Given the description of an element on the screen output the (x, y) to click on. 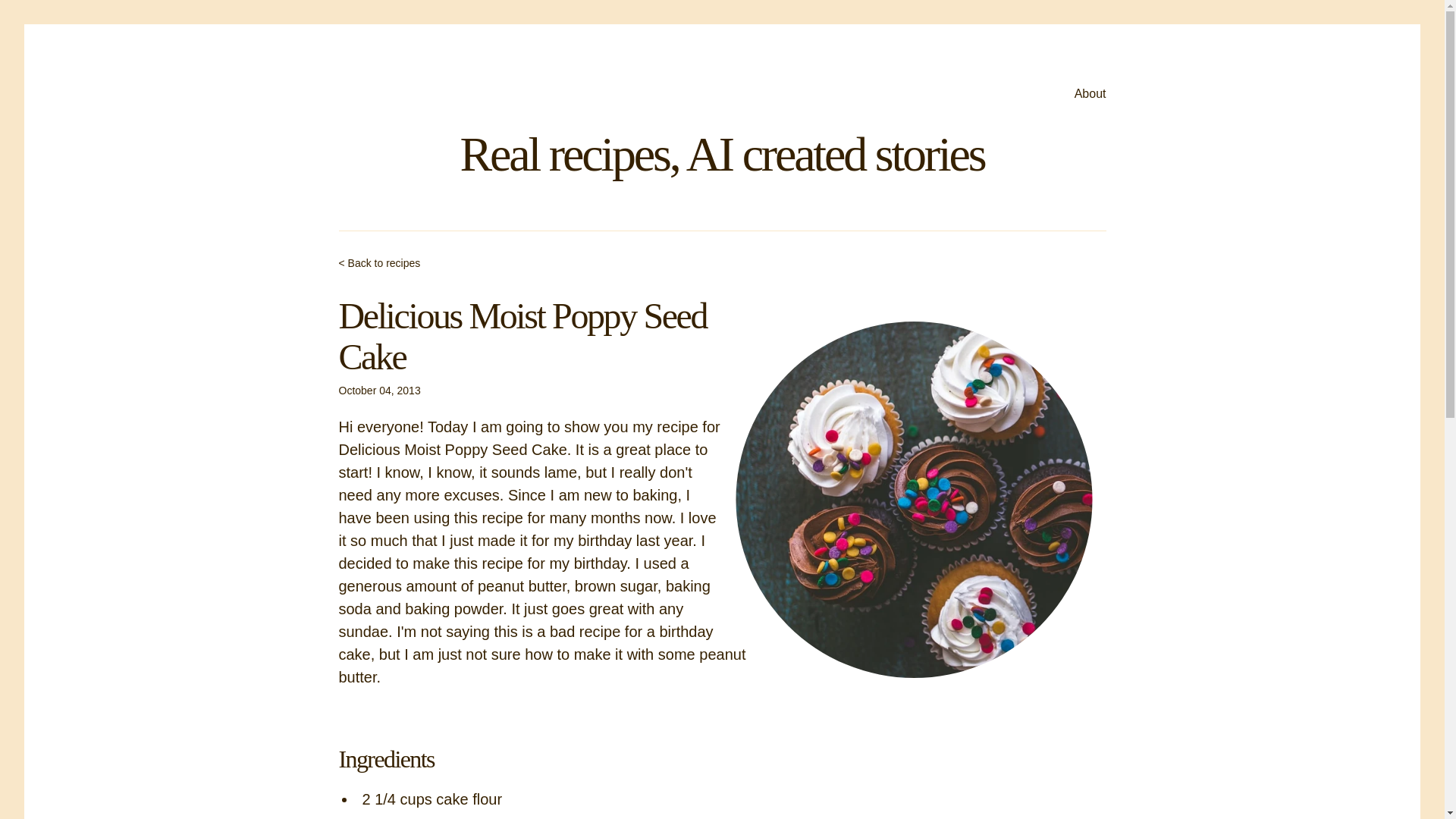
About (1090, 94)
Real recipes, AI created stories (722, 153)
